Given the description of an element on the screen output the (x, y) to click on. 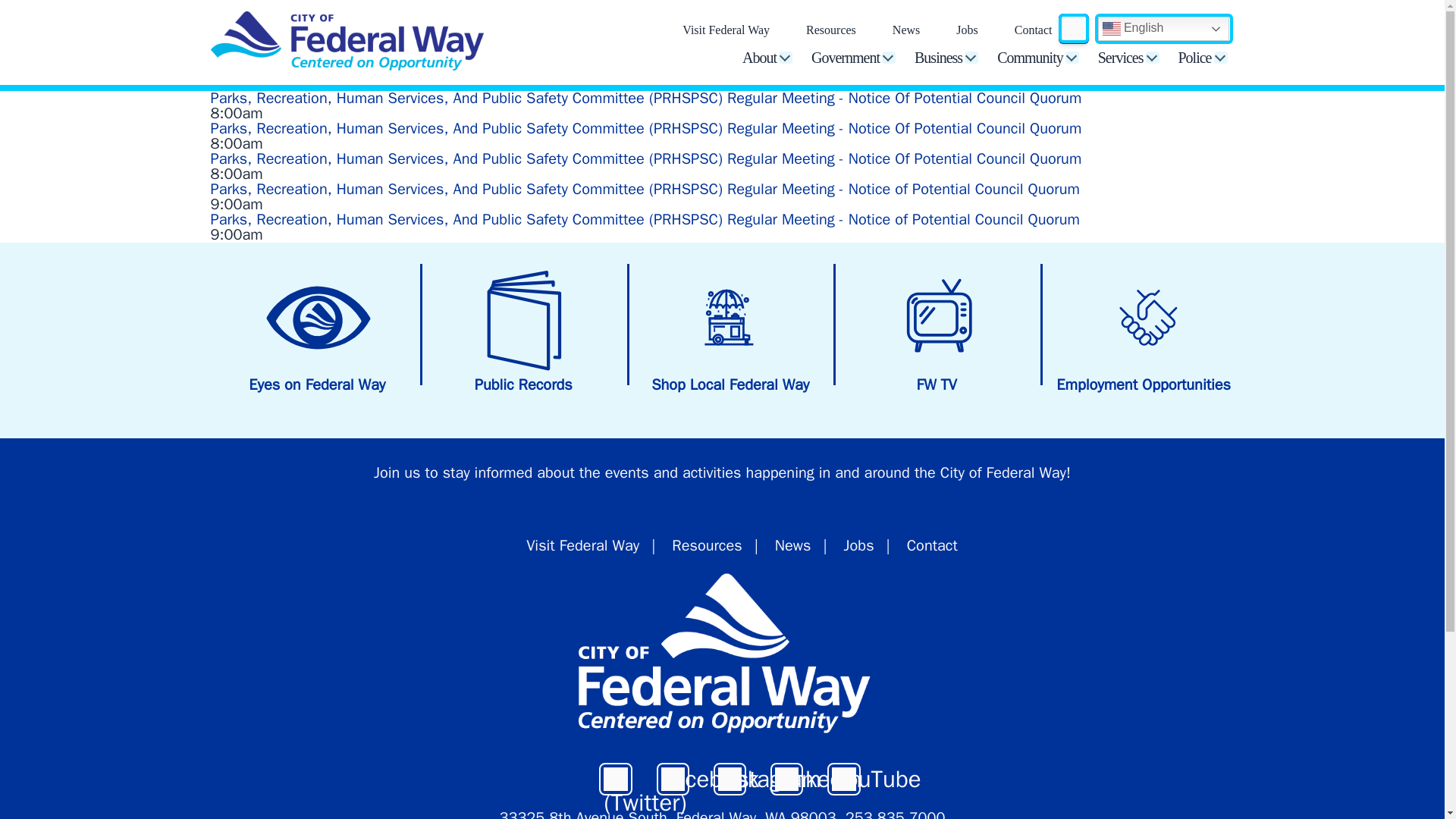
Apply (1072, 28)
E-Newsletter Sign-up (397, 472)
